Given the description of an element on the screen output the (x, y) to click on. 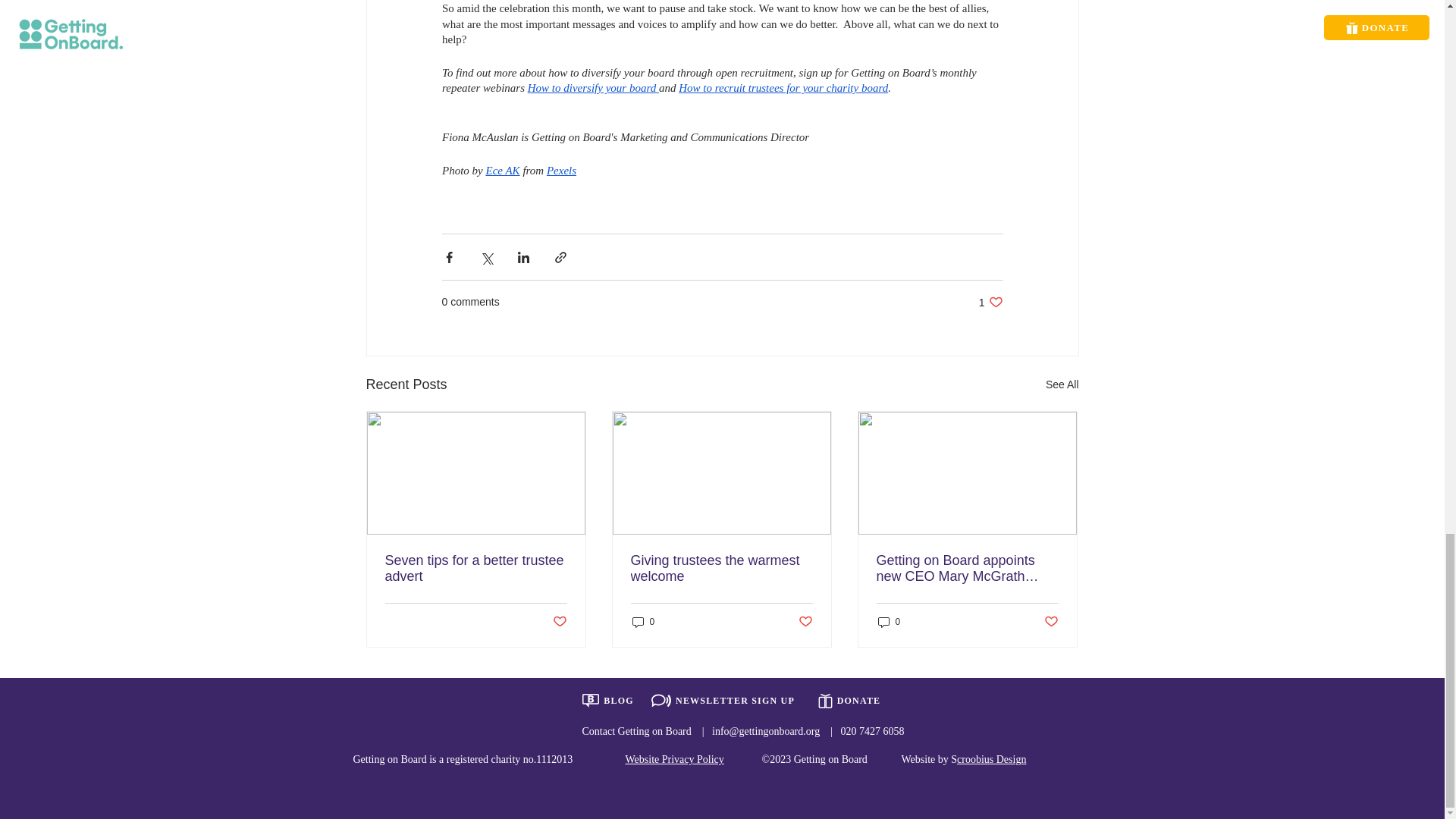
See All (1061, 384)
Pexels (990, 301)
How to diversify your board  (560, 170)
Ece AK (592, 87)
How to recruit trustees for your charity board (501, 170)
